Given the description of an element on the screen output the (x, y) to click on. 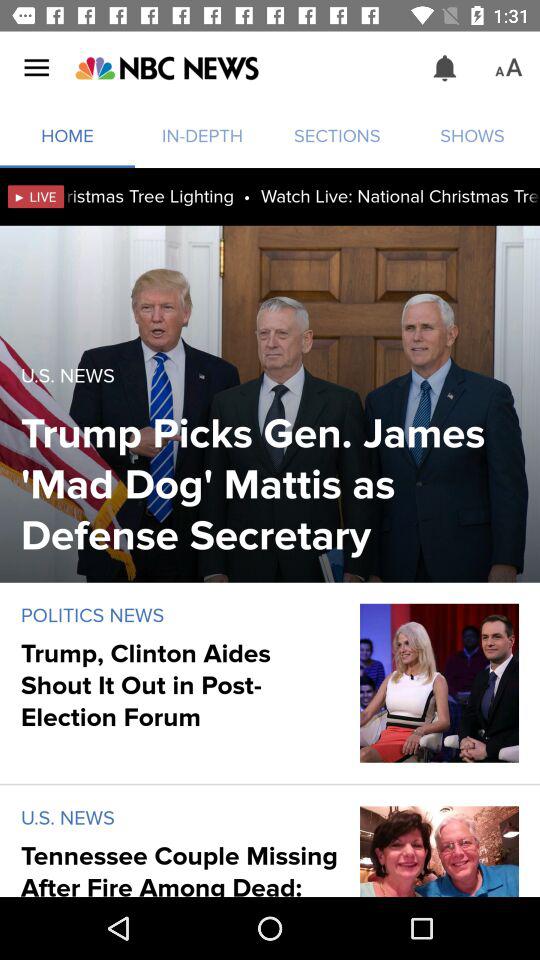
open item to the right of the sections icon (444, 67)
